Given the description of an element on the screen output the (x, y) to click on. 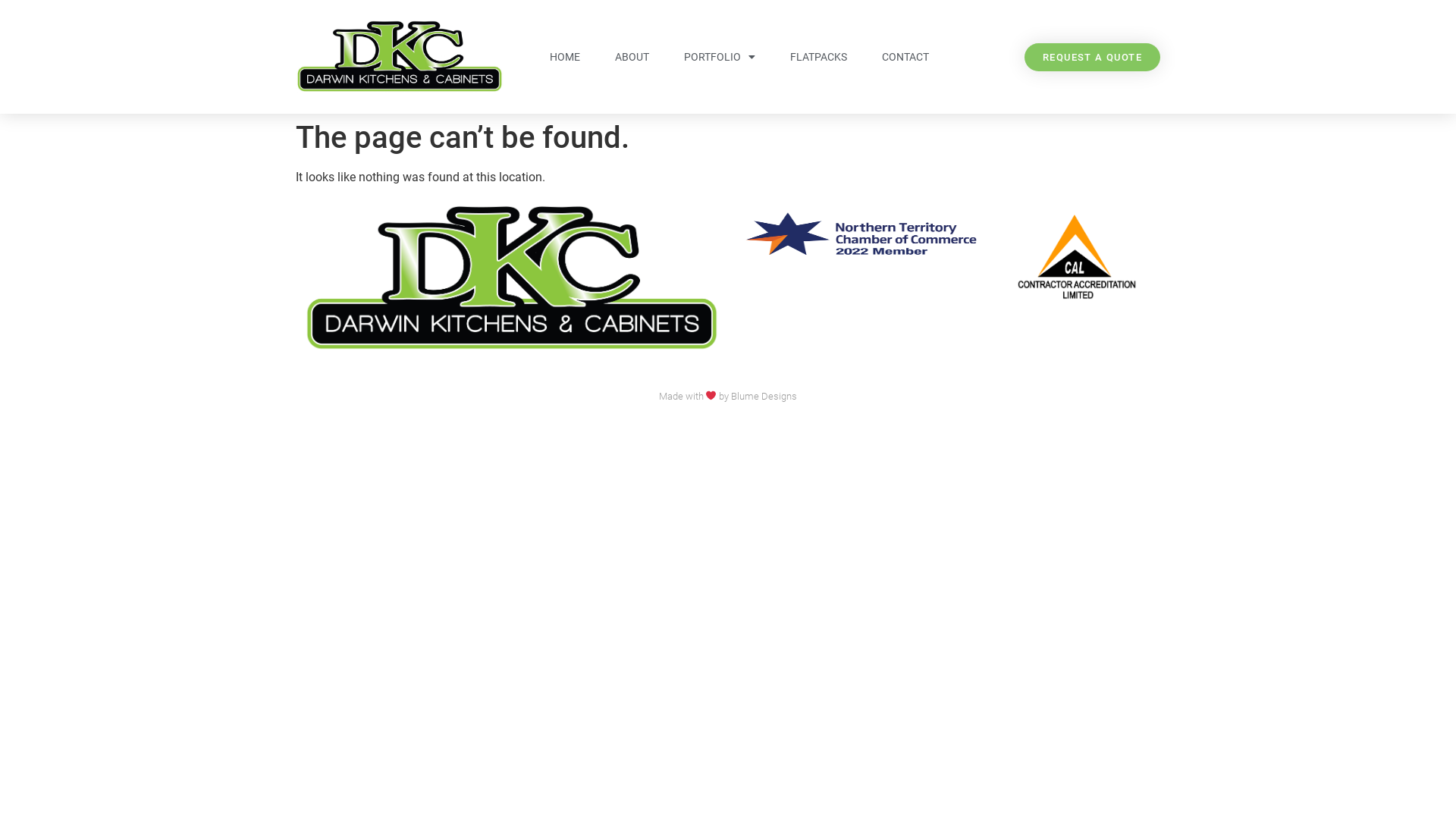
Made with by Blume Designs Element type: text (727, 395)
HOME Element type: text (564, 56)
FLATPACKS Element type: text (818, 56)
DKC FINAL Green LOGO Element type: hover (511, 277)
PORTFOLIO Element type: text (719, 56)
CAL Element type: hover (1076, 256)
ABOUT Element type: text (631, 56)
REQUEST A QUOTE Element type: text (1092, 56)
CONTACT Element type: text (905, 56)
